Given the description of an element on the screen output the (x, y) to click on. 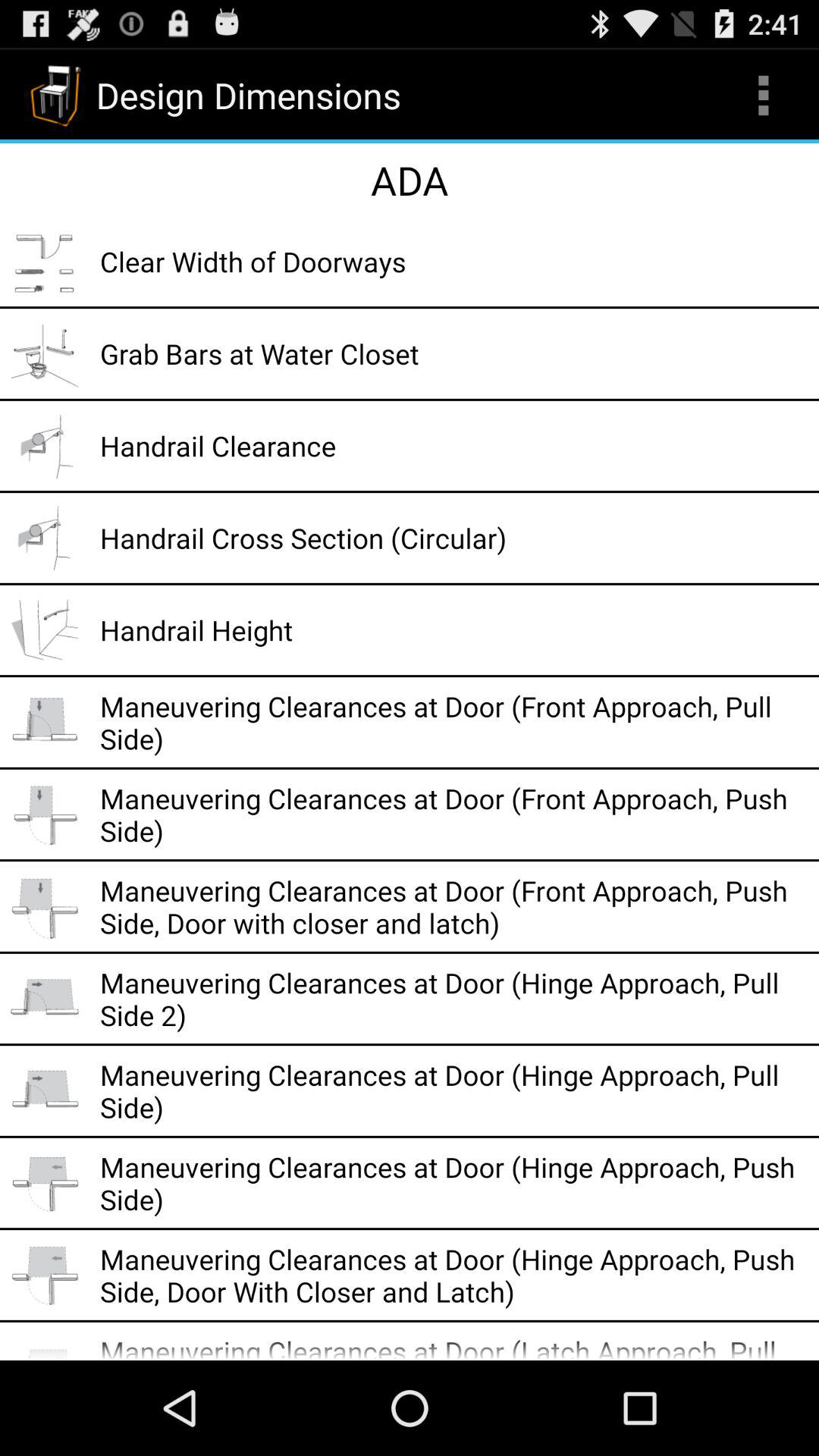
click the handrail cross section icon (454, 537)
